Given the description of an element on the screen output the (x, y) to click on. 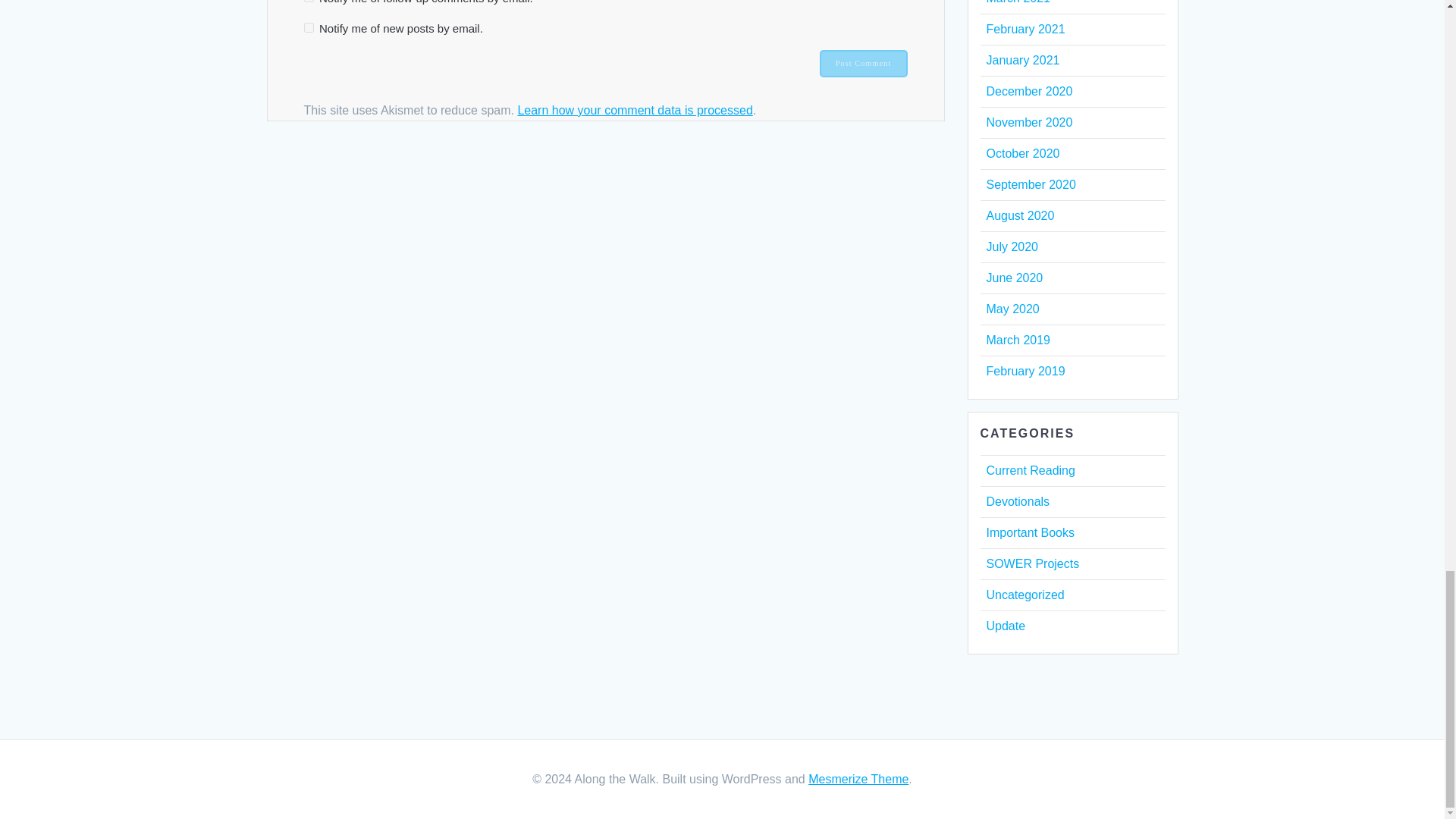
Post Comment (863, 62)
Learn how your comment data is processed (634, 110)
subscribe (307, 27)
Post Comment (863, 62)
